Given the description of an element on the screen output the (x, y) to click on. 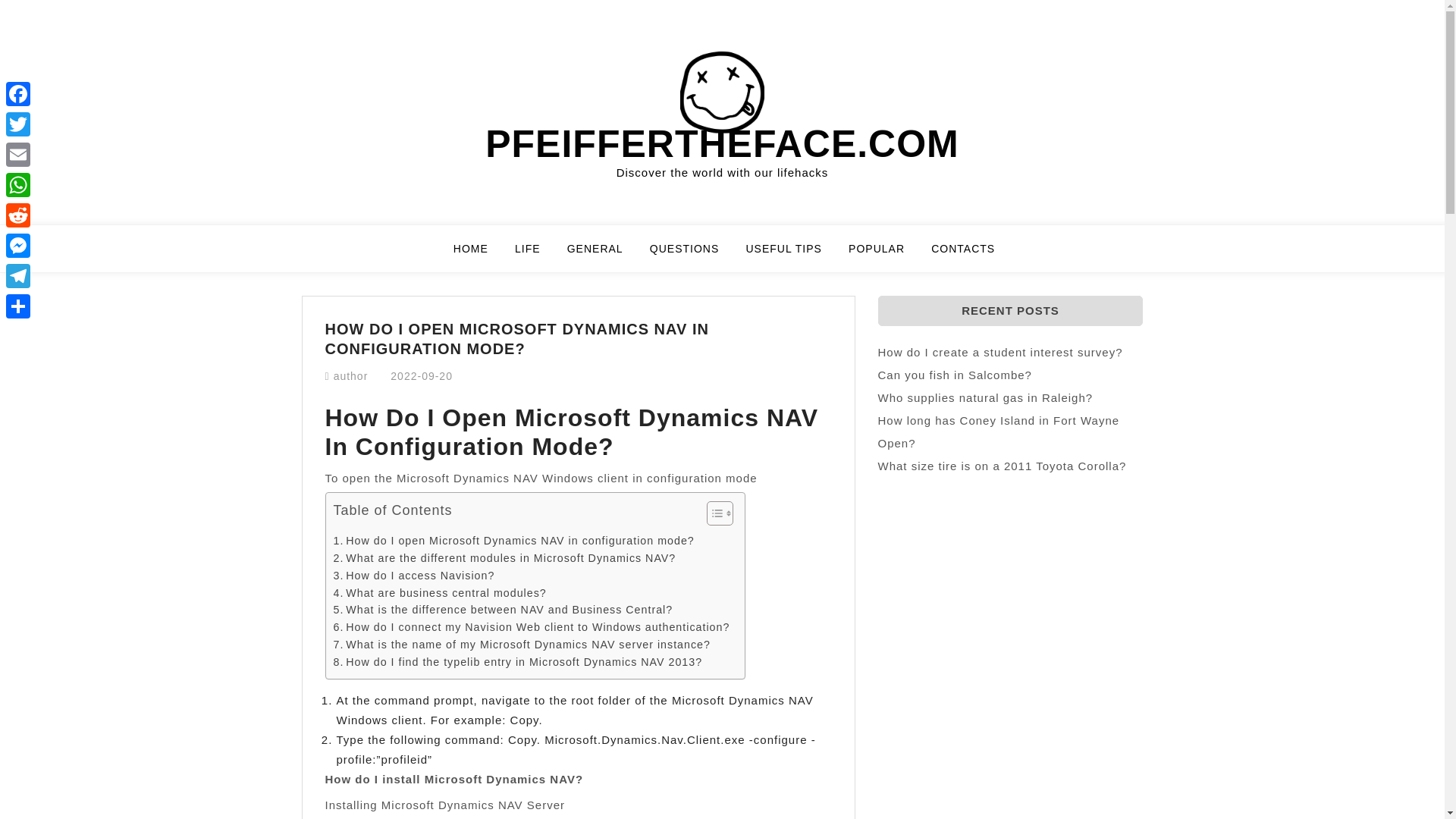
How do I open Microsoft Dynamics NAV in configuration mode? (513, 540)
LIFE (537, 255)
WhatsApp (17, 184)
What are business central modules? (440, 592)
Facebook (17, 93)
USEFUL TIPS (792, 255)
POPULAR (885, 255)
What are the different modules in Microsoft Dynamics NAV? (505, 558)
HOME (479, 255)
2022-09-20 (421, 376)
What are business central modules? (440, 592)
GENERAL (604, 255)
